Given the description of an element on the screen output the (x, y) to click on. 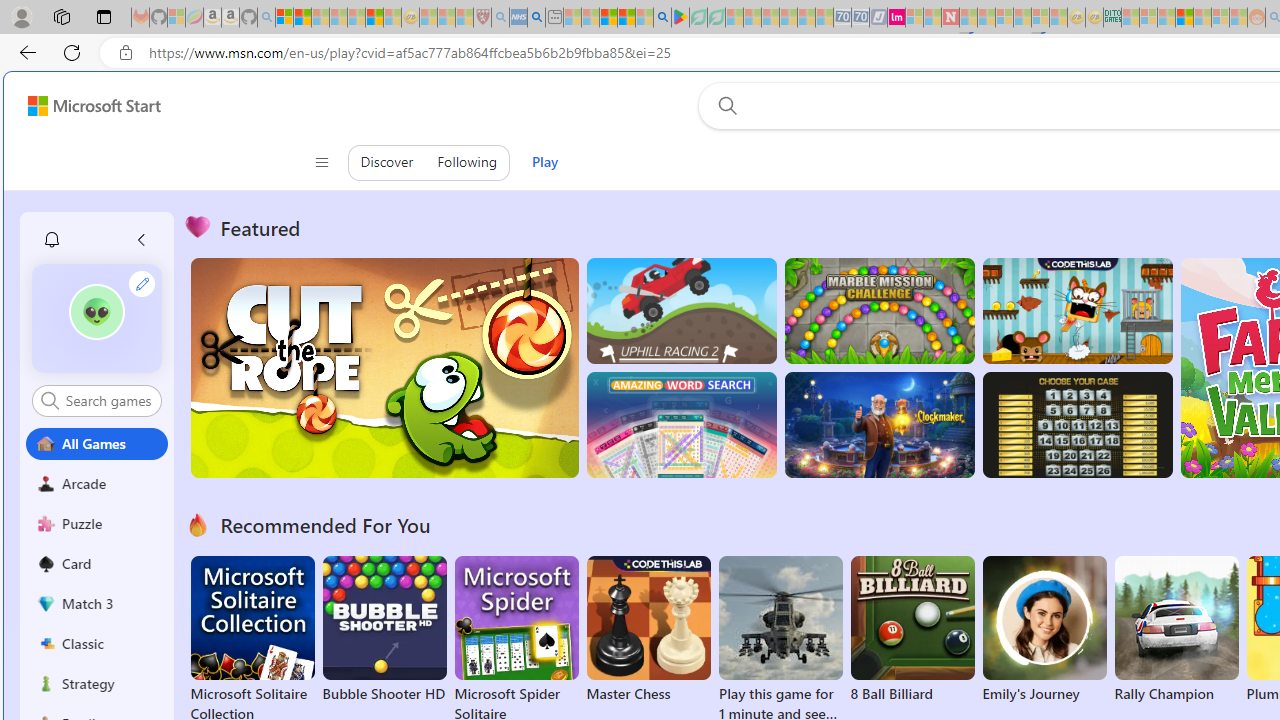
Play (544, 161)
Cut the Rope (383, 367)
Marble Mission : Challenge (879, 310)
Up Hill Racing 2 (681, 310)
""'s avatar (96, 312)
